Given the description of an element on the screen output the (x, y) to click on. 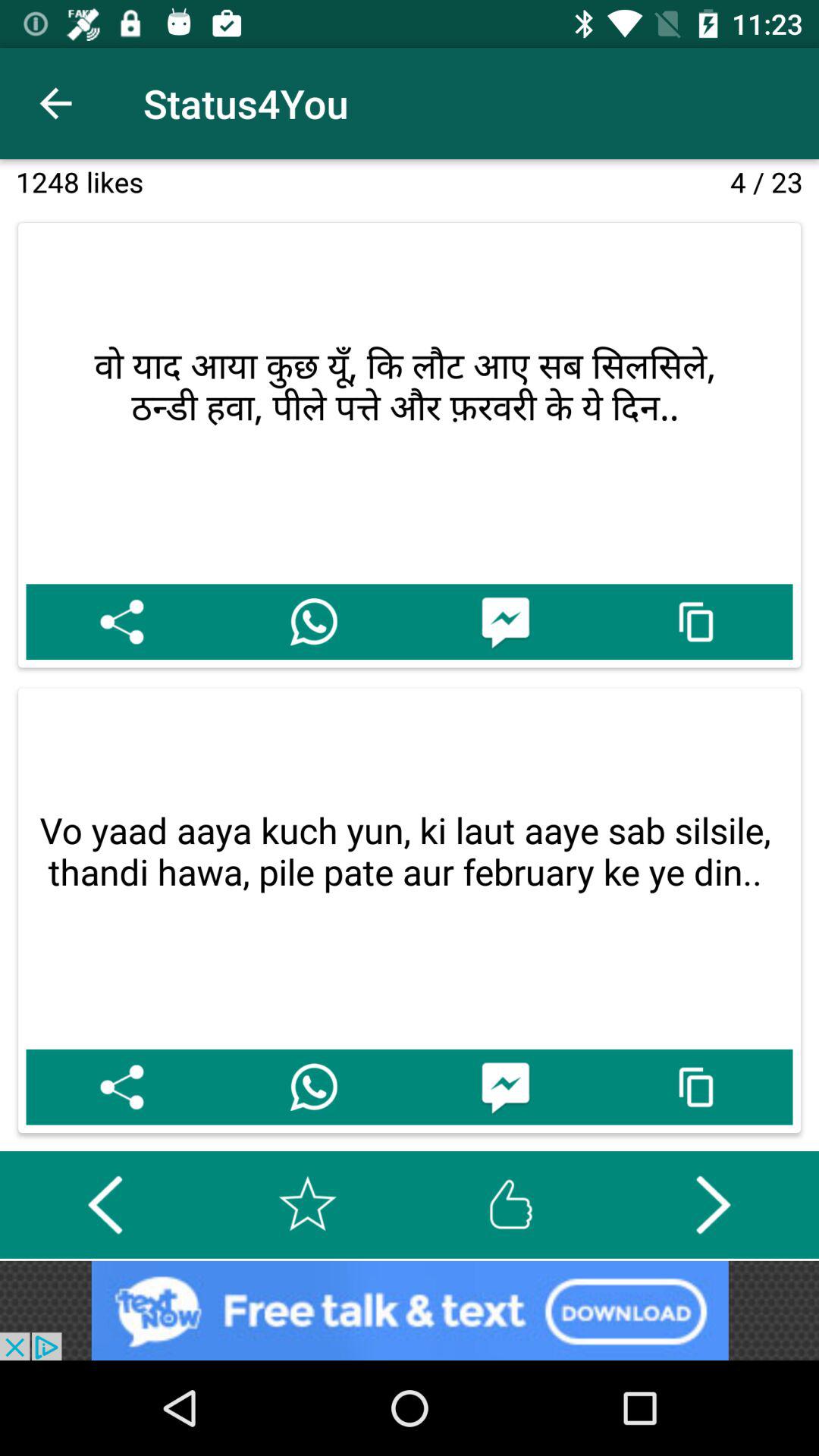
click on add (409, 1310)
